Given the description of an element on the screen output the (x, y) to click on. 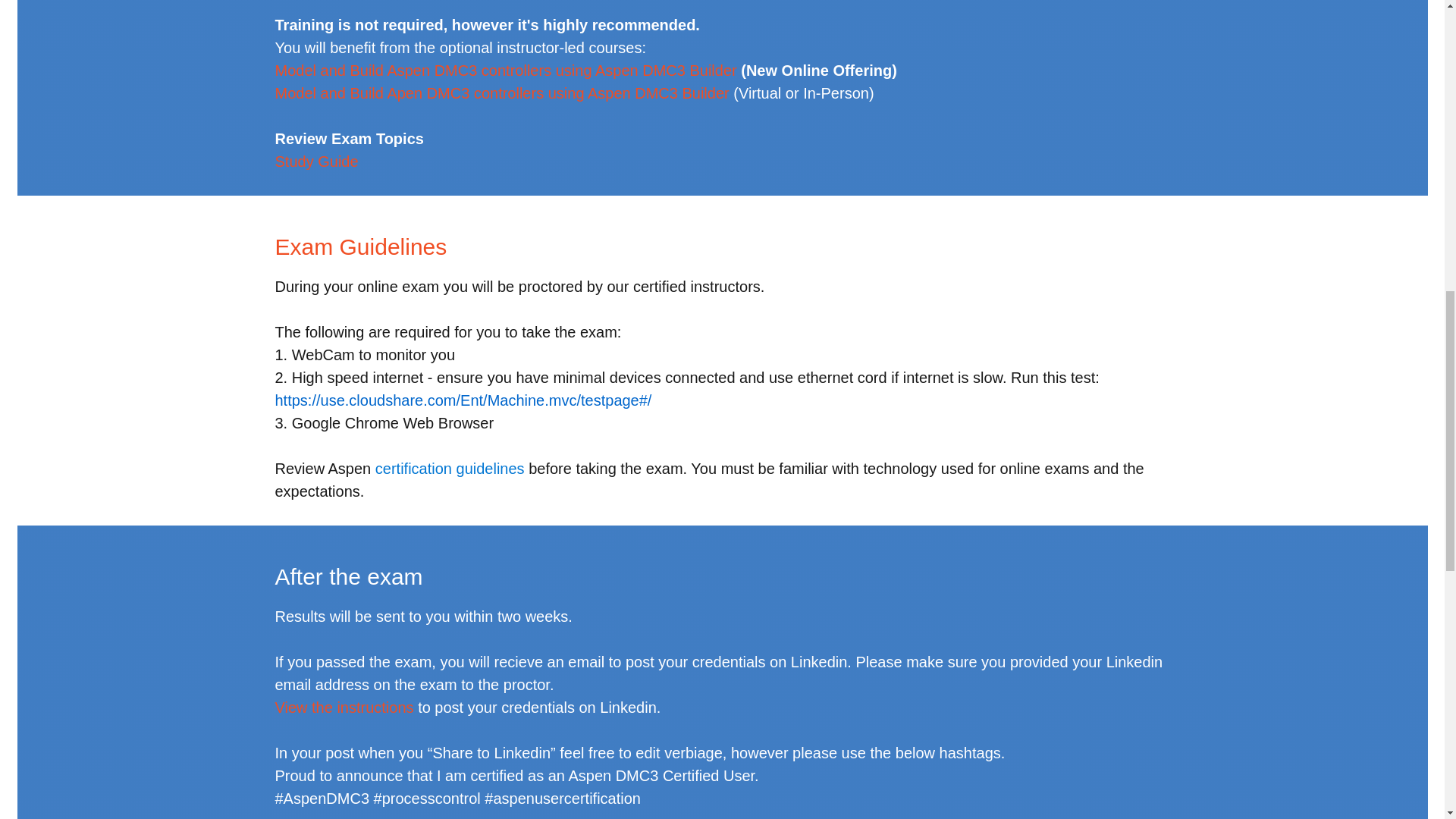
certification guidelines (449, 468)
Study Guide (316, 161)
View the instructions (344, 707)
